Given the description of an element on the screen output the (x, y) to click on. 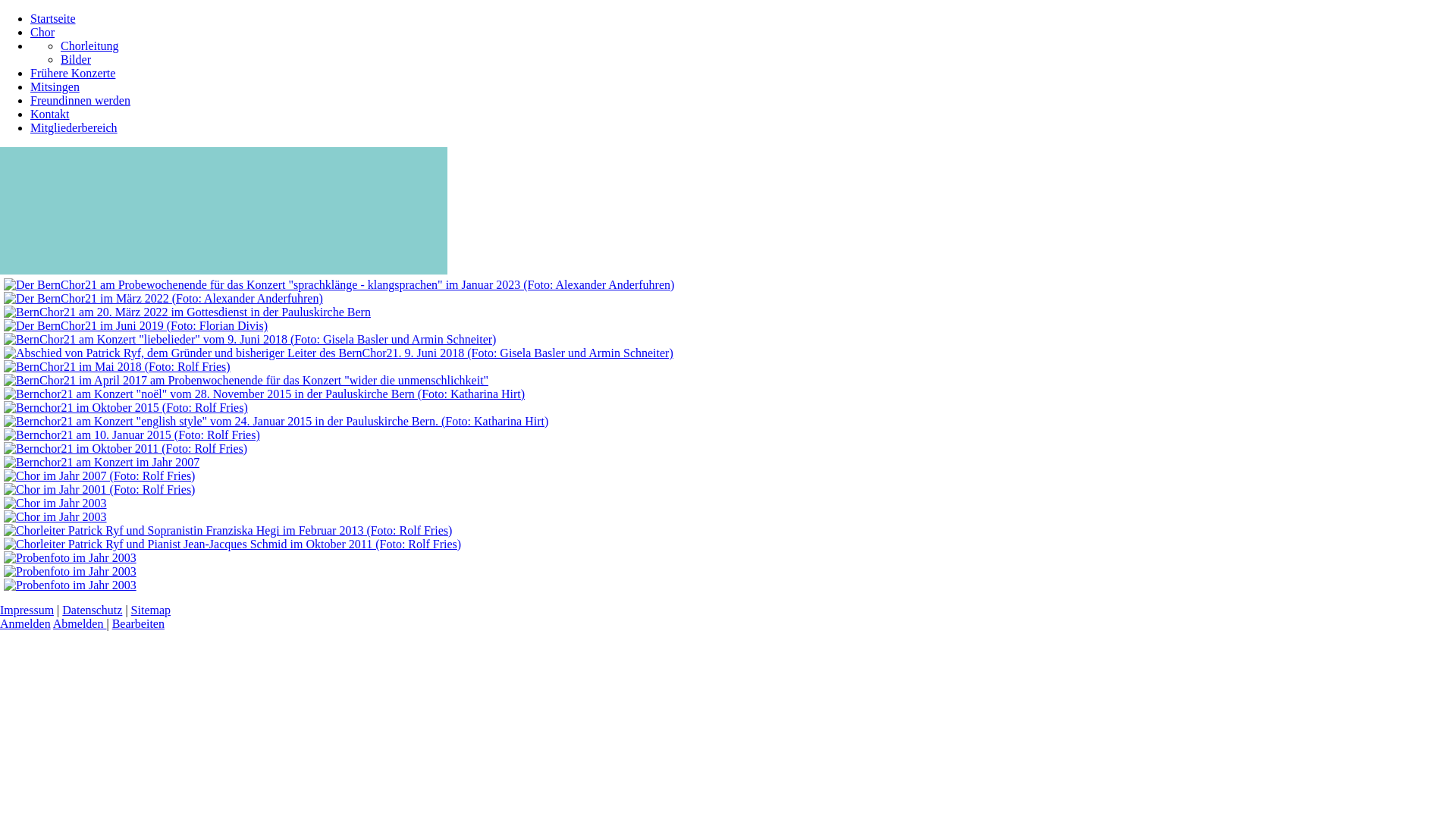
Freundinnen werden Element type: text (80, 100)
Bearbeiten Element type: text (138, 623)
Mitgliederbereich Element type: text (73, 127)
Datenschutz Element type: text (92, 609)
Impressum Element type: text (26, 609)
Mitsingen Element type: text (54, 86)
Abmelden Element type: text (79, 623)
Sitemap Element type: text (150, 609)
Startseite Element type: text (52, 18)
Anmelden Element type: text (25, 623)
Chor Element type: text (42, 31)
Chorleitung Element type: text (89, 45)
Kontakt Element type: text (49, 113)
Bilder Element type: text (75, 59)
